Given the description of an element on the screen output the (x, y) to click on. 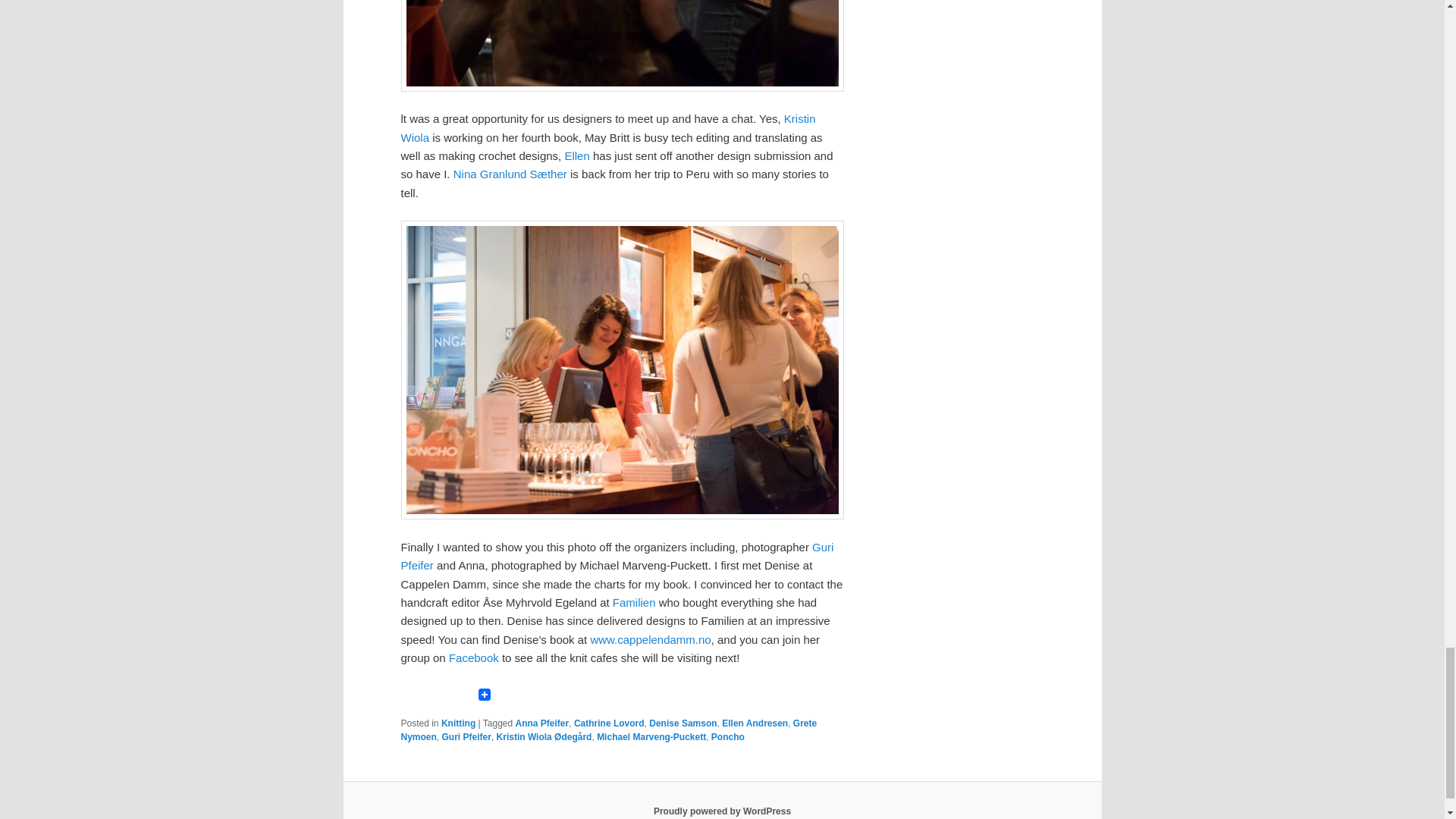
Knitting (458, 723)
Guri Pfeifer (616, 555)
Ellen (576, 155)
Familien (634, 602)
Kristin Wiola (607, 127)
Facebook (473, 657)
Semantic Personal Publishing Platform (721, 810)
www.cappelendamm.no (649, 639)
